Given the description of an element on the screen output the (x, y) to click on. 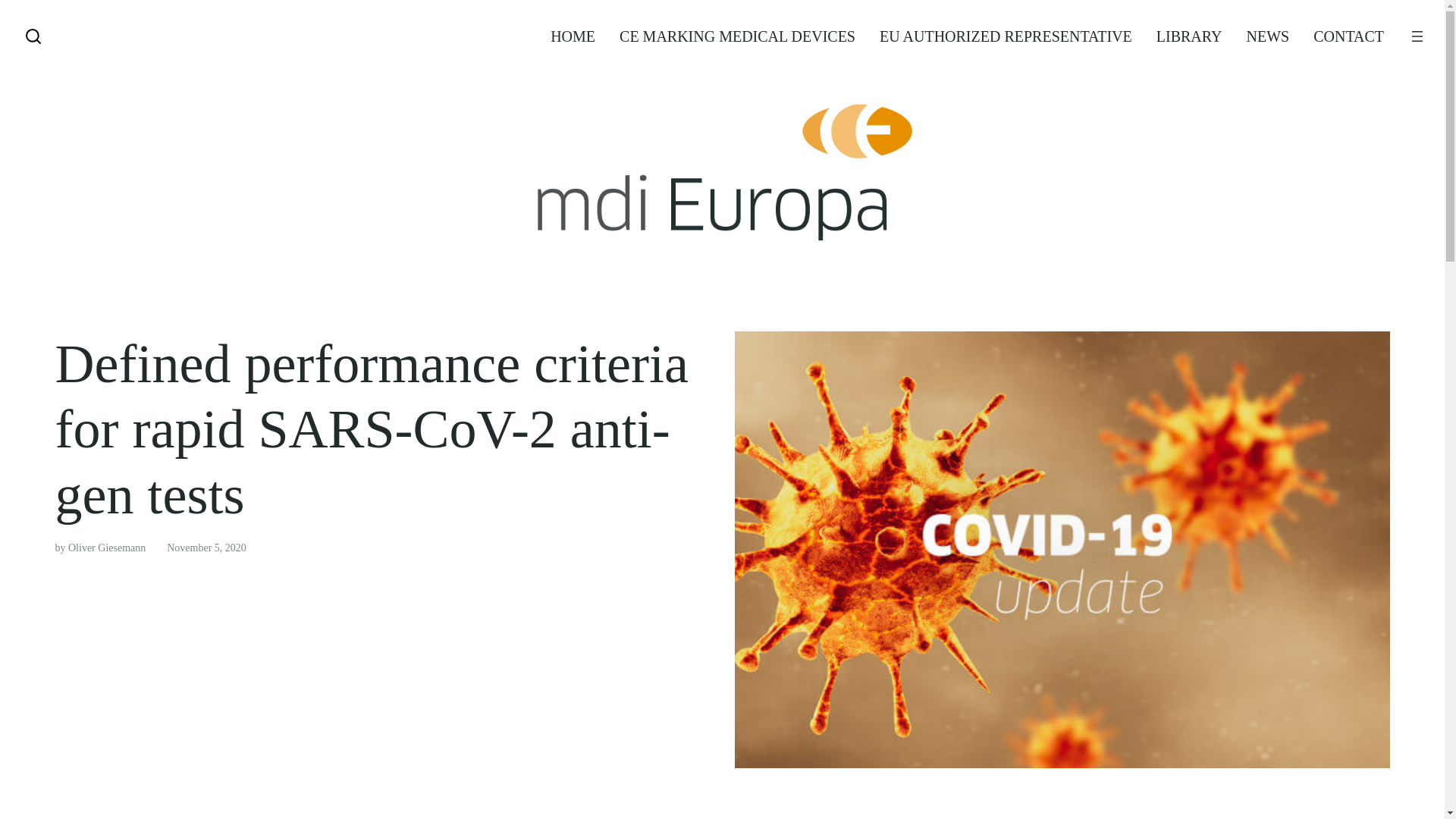
LIBRARY (1189, 36)
EU AUTHORIZED REPRESENTATIVE (1005, 36)
NEWS (1267, 36)
CE MARKING MEDICAL DEVICES (738, 36)
HOME (572, 36)
CONTACT (1348, 36)
